Given the description of an element on the screen output the (x, y) to click on. 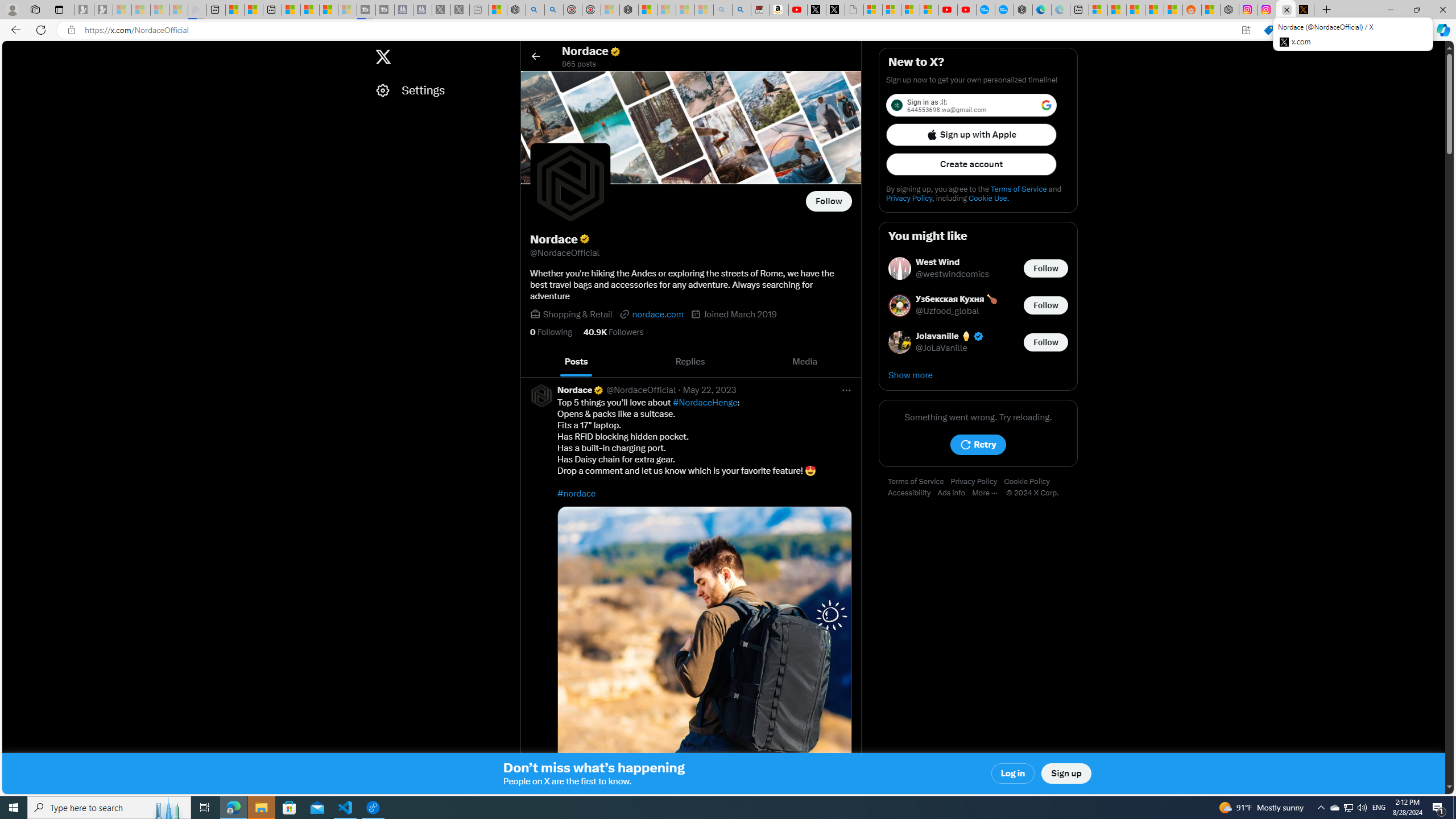
Nordace (@NordaceOfficial) / X (1285, 9)
Create account (971, 164)
YouTube Kids - An App Created for Kids to Explore Content (966, 9)
Shopping & Retail (577, 313)
Square profile picture (540, 395)
App available. Install X (1245, 29)
Follow @JoLaVanille (1045, 341)
@Uzfood_global (947, 311)
The most popular Google 'how to' searches (1004, 9)
